Given the description of an element on the screen output the (x, y) to click on. 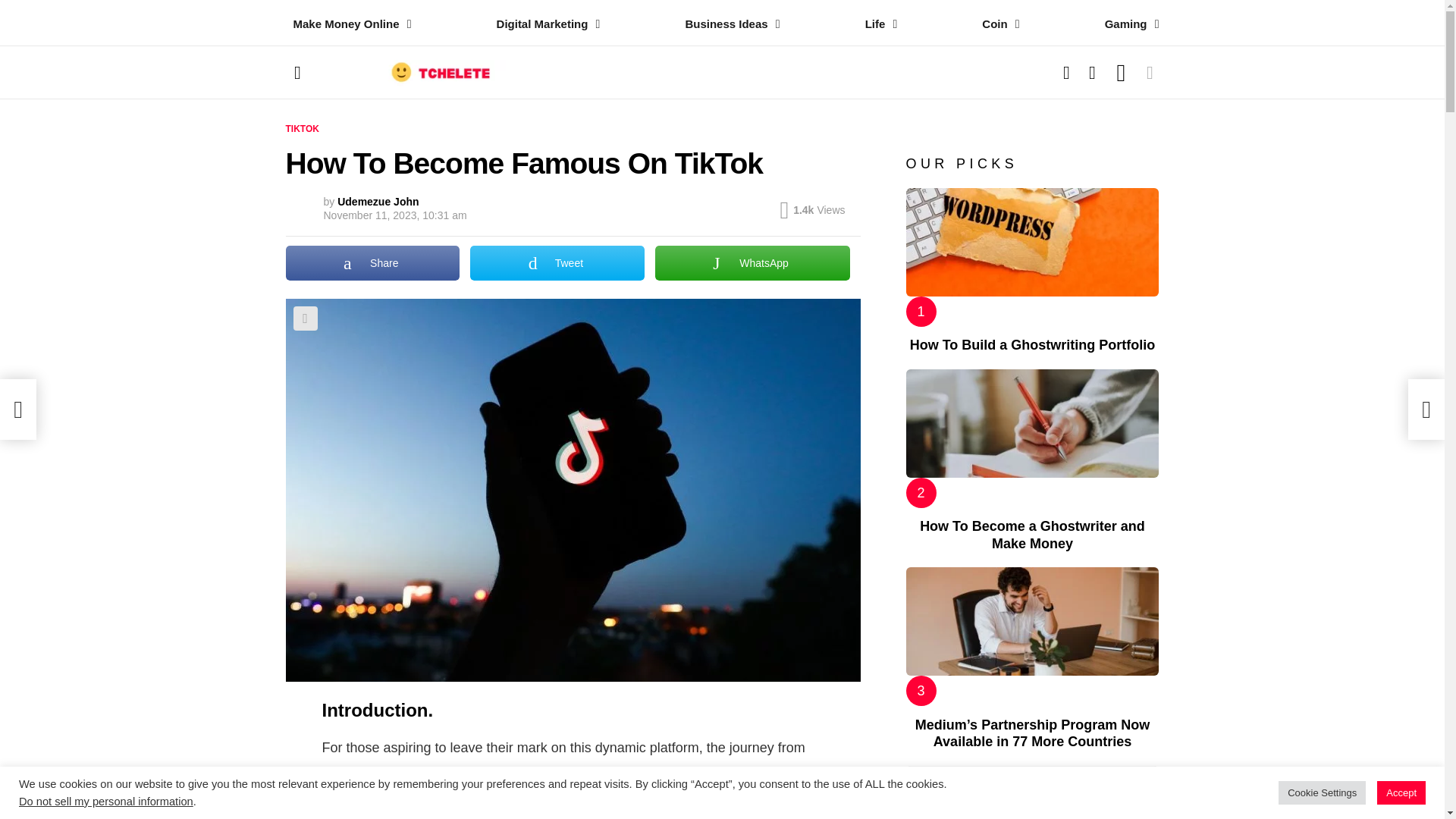
Share on Tweet (557, 262)
Share on Share (372, 262)
Digital Marketing (544, 24)
Business Ideas (727, 24)
Share on WhatsApp (752, 262)
Make Money Online (347, 24)
Life (877, 24)
Posts by Udemezue John (378, 201)
